Given the description of an element on the screen output the (x, y) to click on. 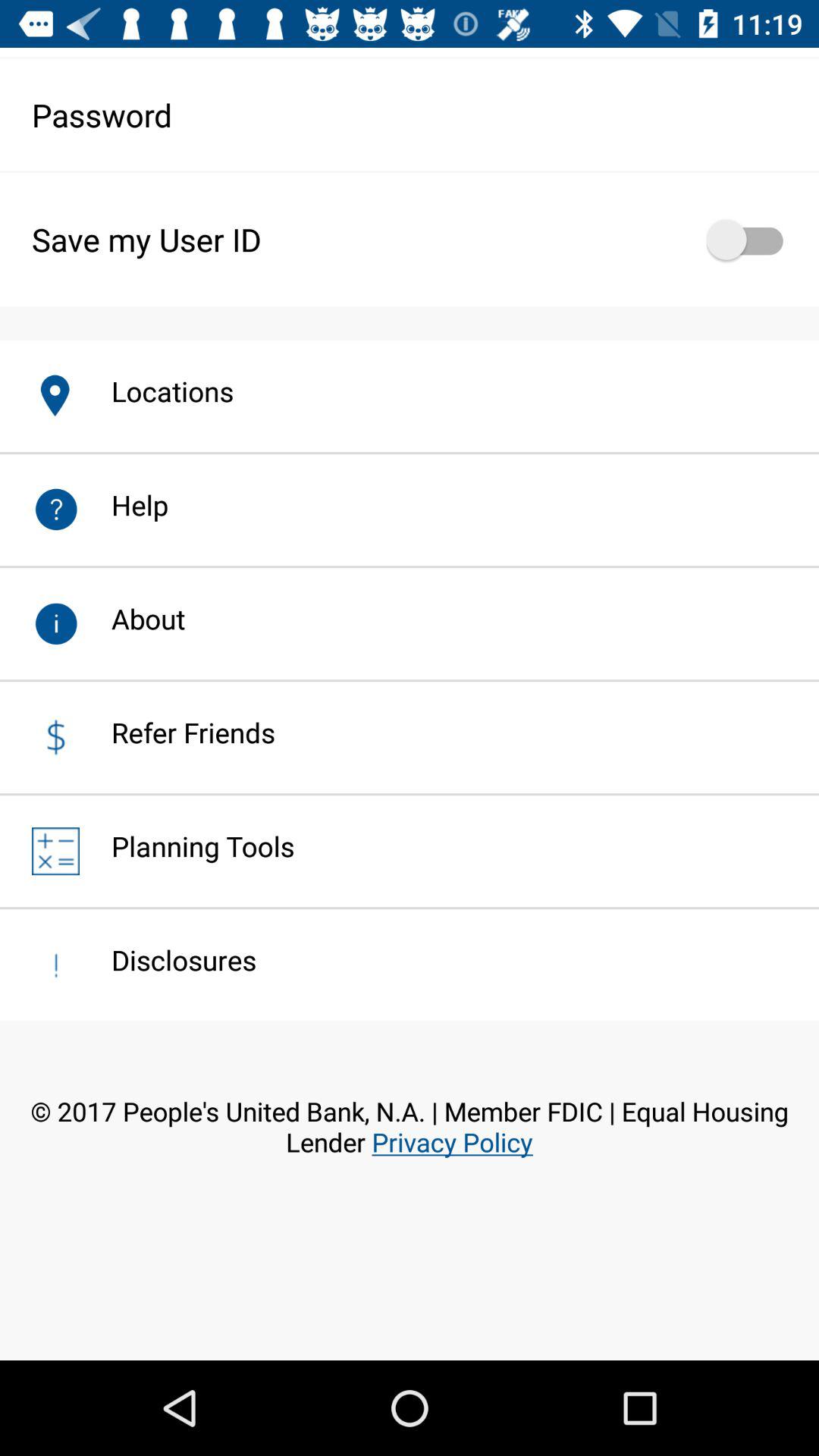
launch the planning tools app (186, 846)
